Given the description of an element on the screen output the (x, y) to click on. 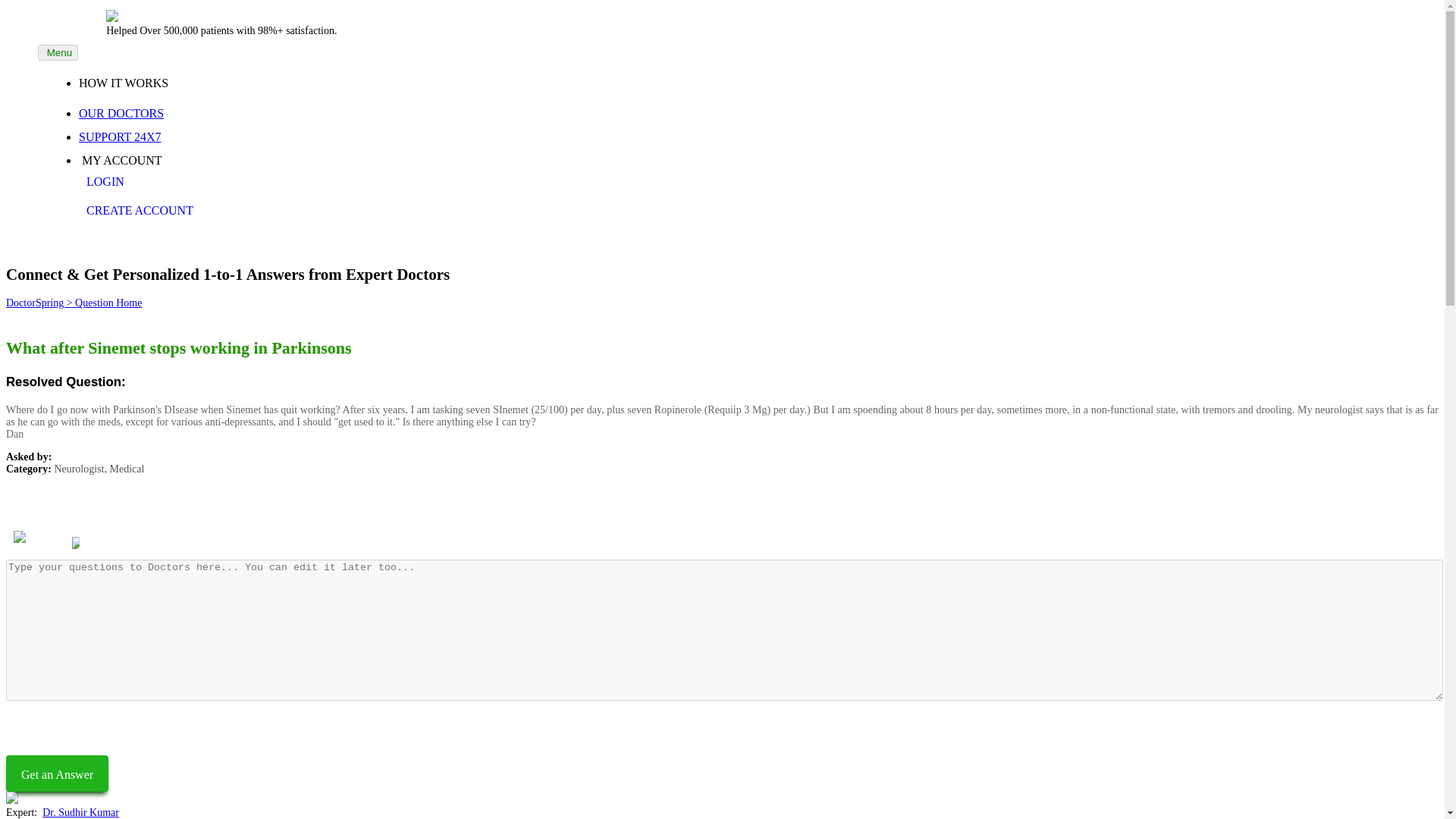
 Menu (57, 52)
LOGIN (154, 181)
Get an Answer (56, 773)
Get an Answer (56, 773)
Question Home (108, 302)
CREATE ACCOUNT (154, 210)
View Profile (108, 539)
Dr. Sudhir Kumar (106, 514)
Dr. Sudhir Kumar (80, 812)
